Given the description of an element on the screen output the (x, y) to click on. 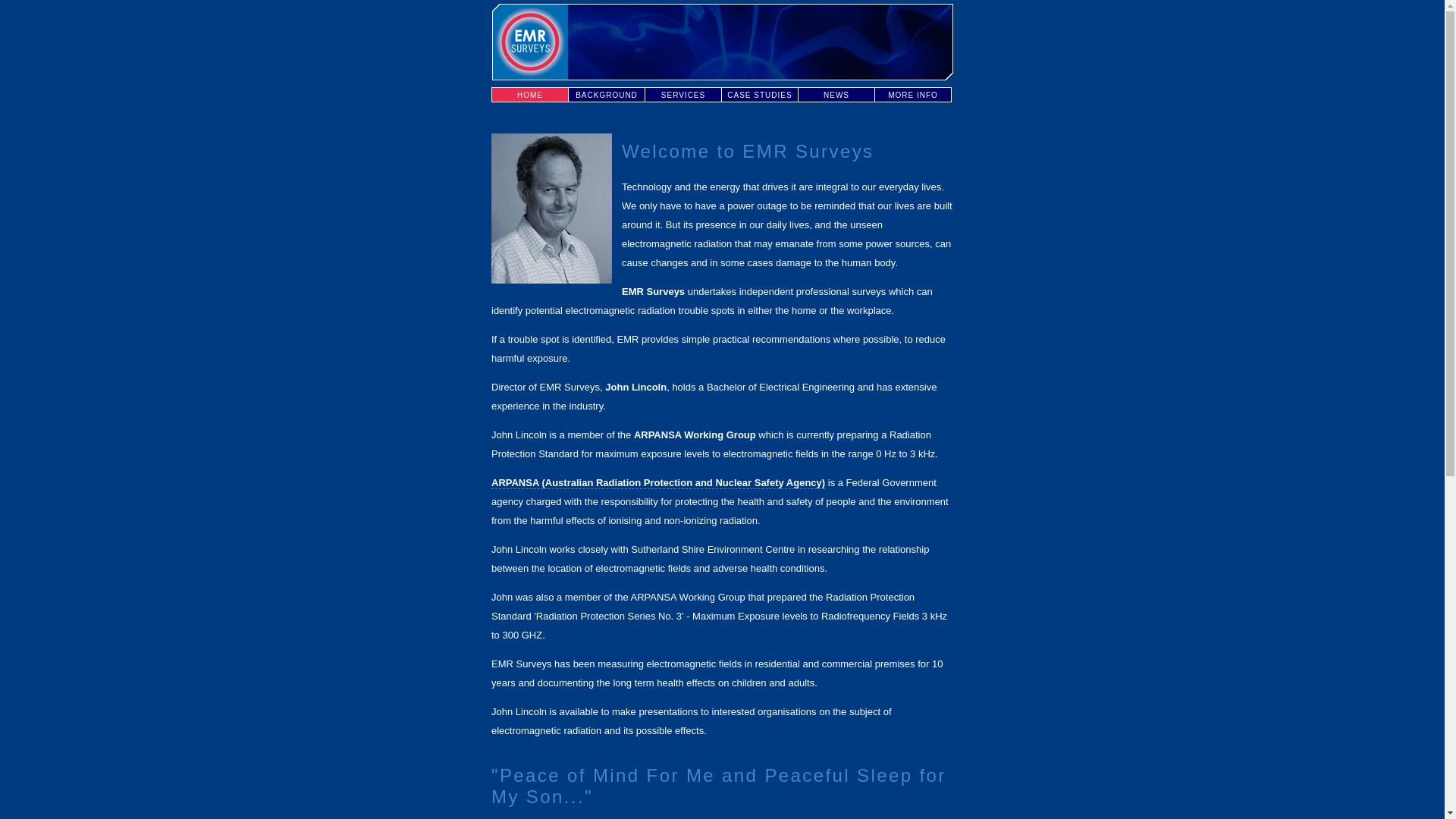
BACKGROUND Element type: text (605, 94)
NEWS Element type: text (835, 94)
MORE INFO Element type: text (912, 94)
HOME Element type: text (529, 94)
SERVICES Element type: text (682, 94)
Director of EMR Surveys, John Lincoln Element type: hover (551, 208)
CASE STUDIES Element type: text (759, 94)
